Given the description of an element on the screen output the (x, y) to click on. 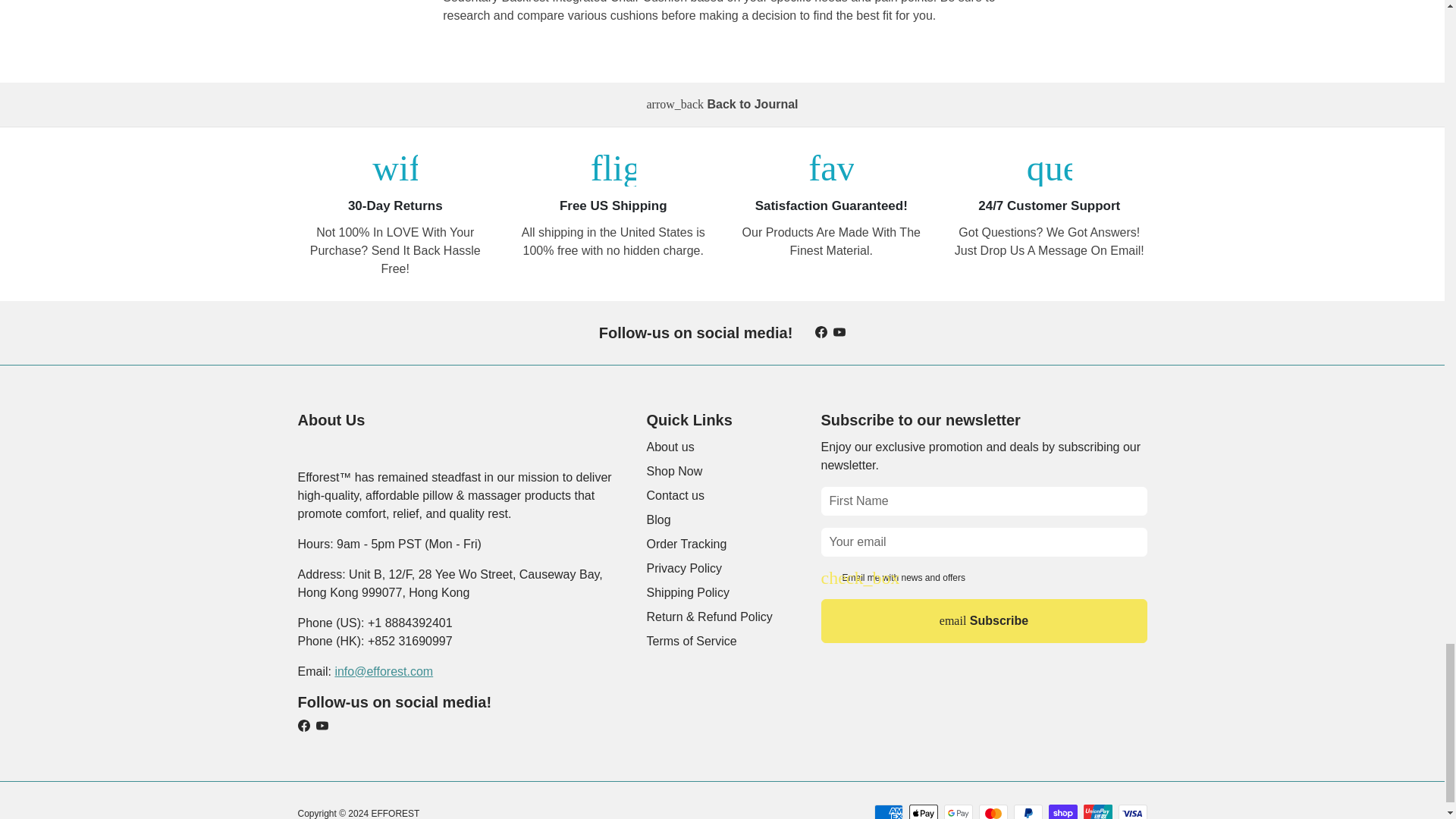
Mastercard (992, 811)
Union Pay (1097, 811)
American Express (887, 811)
Shop Pay (1062, 811)
Apple Pay (922, 811)
EFFOREST on Facebook (821, 332)
Visa (1132, 811)
PayPal (1027, 811)
Google Pay (957, 811)
EFFOREST on Youtube (838, 332)
